Given the description of an element on the screen output the (x, y) to click on. 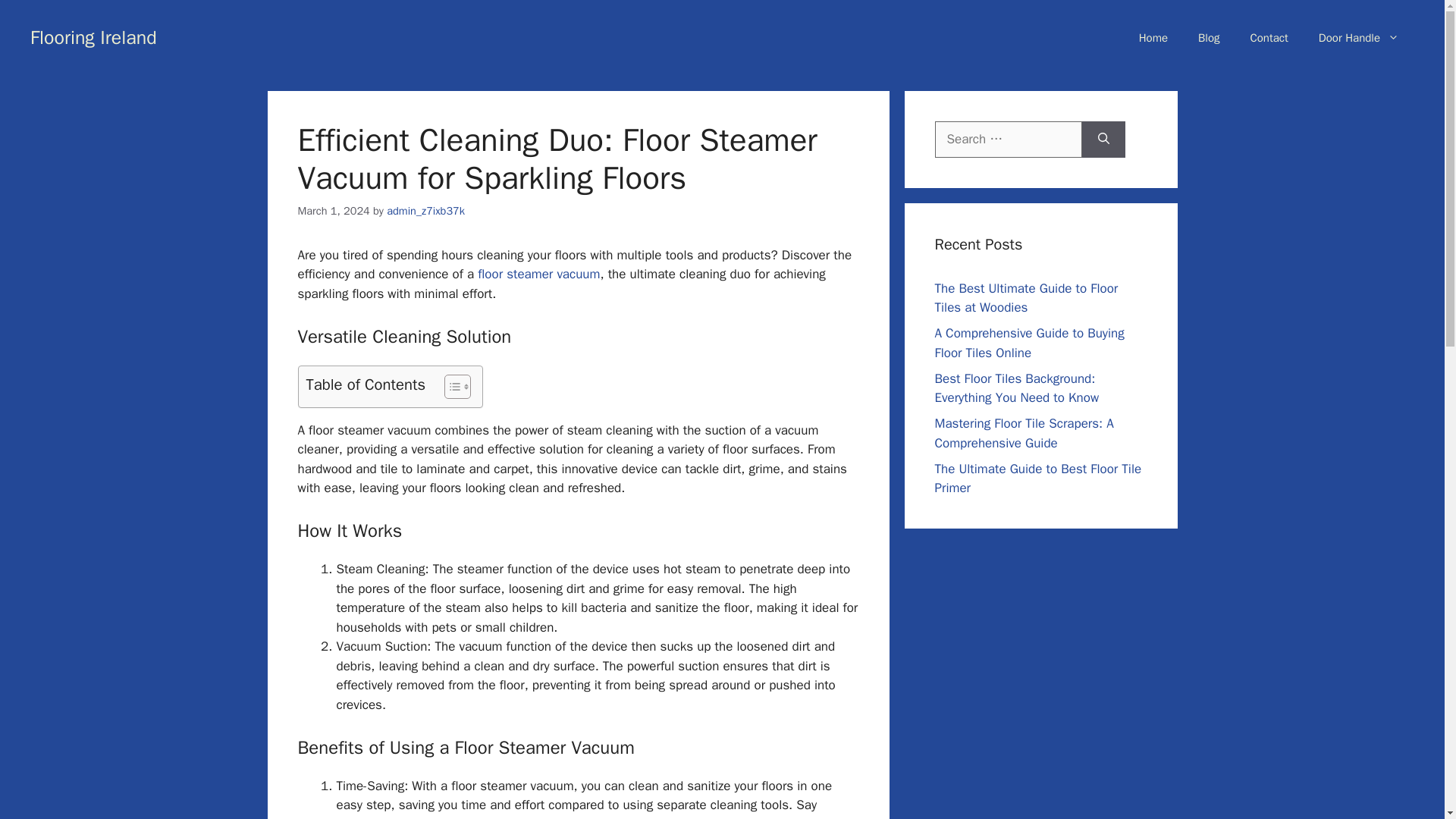
A Comprehensive Guide to Buying Floor Tiles Online (1029, 343)
Blog (1208, 37)
floor steamer vacuum (538, 273)
Best Floor Tiles Background: Everything You Need to Know (1016, 387)
The Ultimate Guide to Best Floor Tile Primer (1037, 478)
Flooring Ireland (93, 37)
Home (1153, 37)
Mastering Floor Tile Scrapers: A Comprehensive Guide (1023, 433)
Search for: (1007, 139)
The Best Ultimate Guide to Floor Tiles at Woodies (1026, 298)
Door Handle (1358, 37)
Contact (1268, 37)
